Given the description of an element on the screen output the (x, y) to click on. 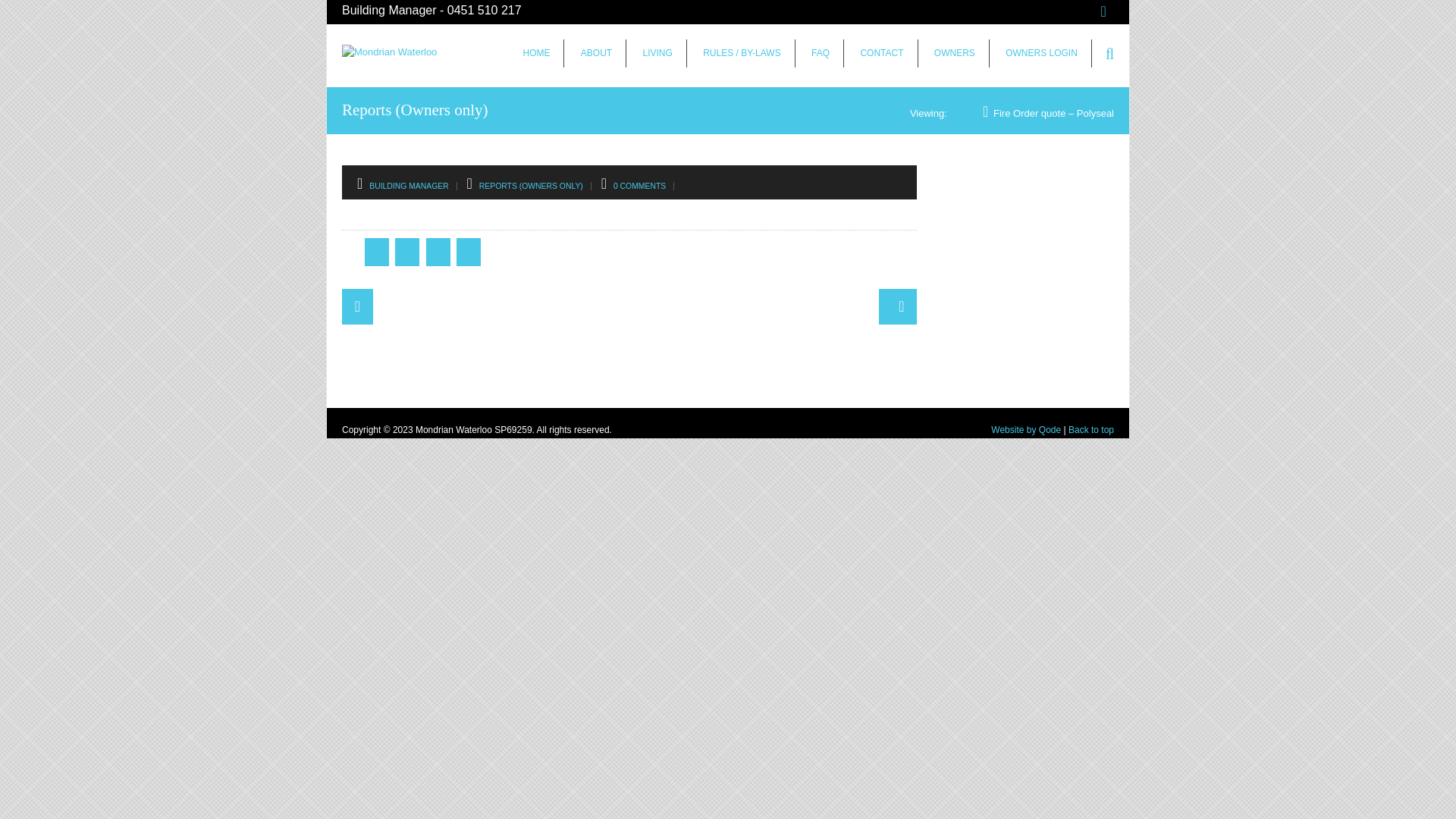
CONTACT Element type: text (881, 53)
Website by Qode Element type: text (1025, 429)
OWNERS LOGIN Element type: text (1041, 53)
0 COMMENTS Element type: text (639, 186)
OWNERS Element type: text (954, 53)
FAQ Element type: text (820, 53)
BUILDING MANAGER Element type: text (408, 186)
ABOUT Element type: text (596, 53)
Home Element type: text (964, 113)
RULES / BY-LAWS Element type: text (741, 53)
Back to top Element type: text (1090, 429)
REPORTS (OWNERS ONLY) Element type: text (531, 186)
LIVING Element type: text (658, 53)
HOME Element type: text (536, 53)
